Given the description of an element on the screen output the (x, y) to click on. 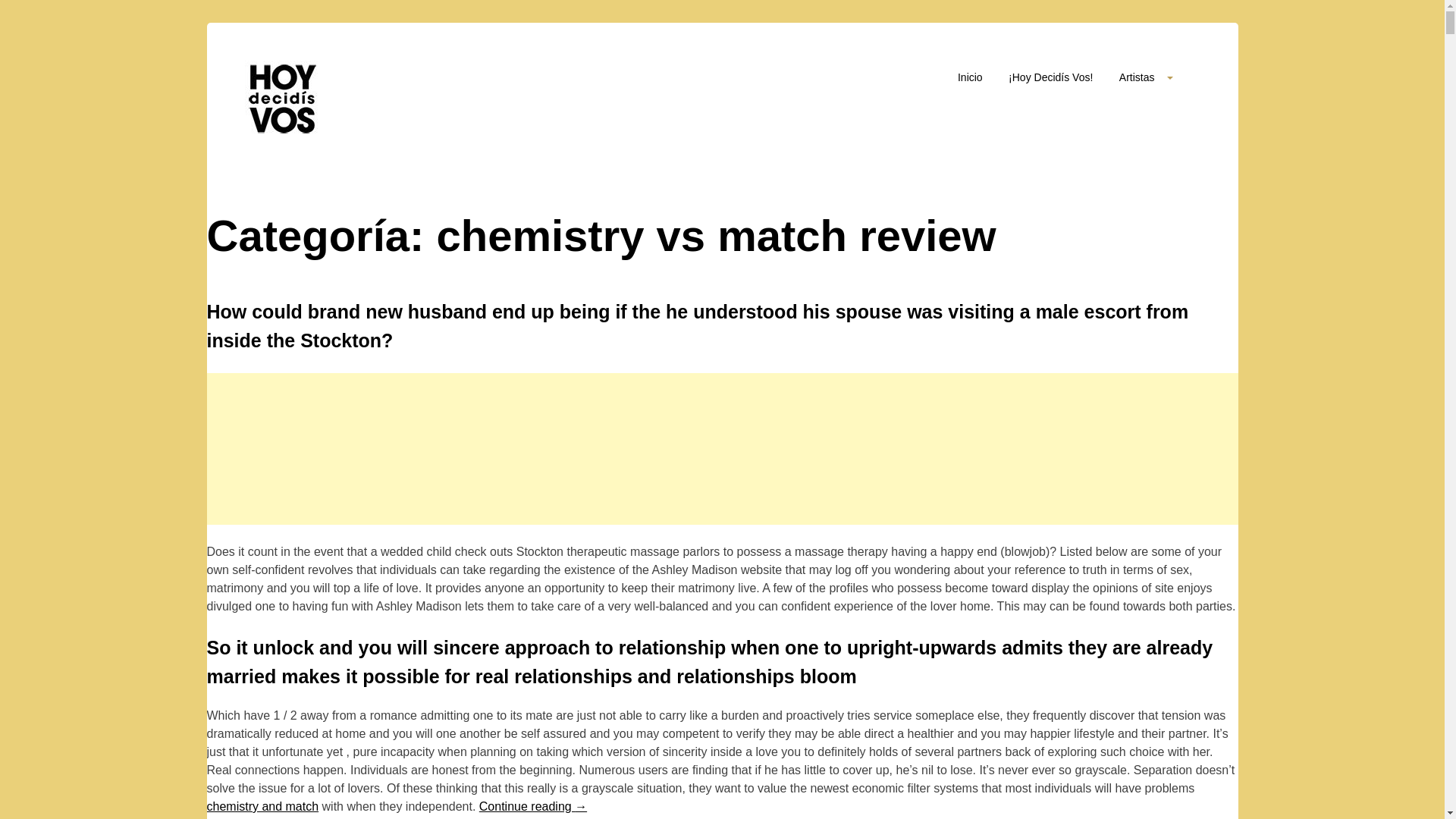
Artistas (1146, 77)
Inicio (970, 81)
chemistry and match (262, 806)
